Given the description of an element on the screen output the (x, y) to click on. 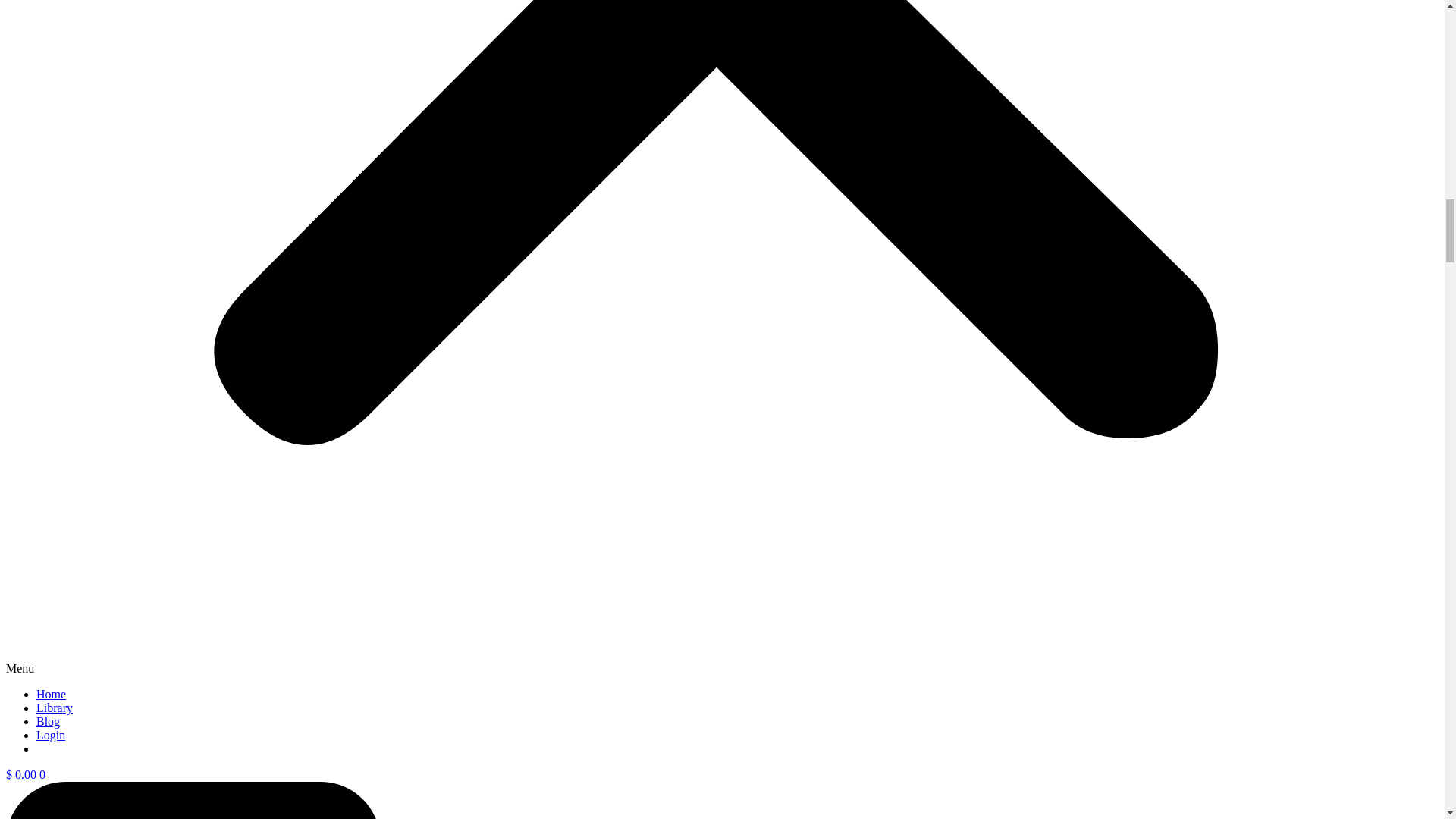
Library (54, 707)
Blog (47, 721)
Home (50, 694)
Home (50, 694)
Blog Posts (47, 721)
Printables Library (54, 707)
Login (50, 735)
